Given the description of an element on the screen output the (x, y) to click on. 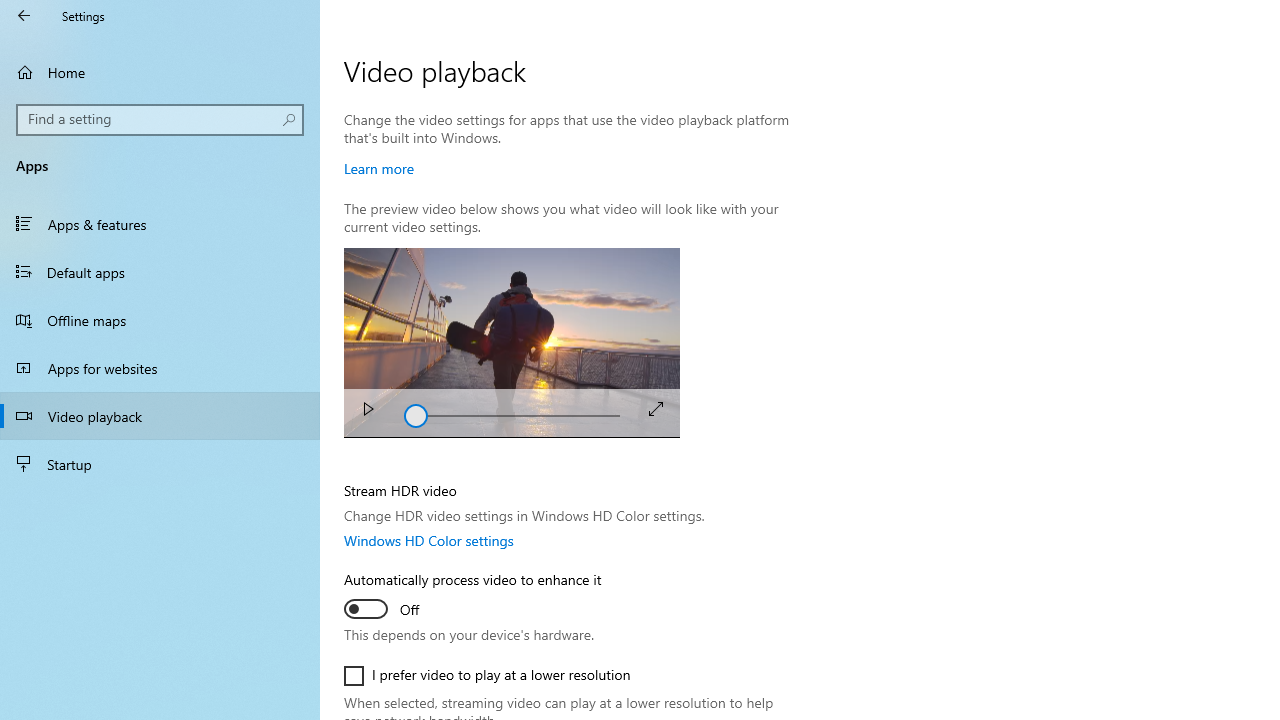
Learn more (379, 168)
Offline maps (160, 319)
Default apps (160, 271)
Apps for websites (160, 367)
Play (367, 412)
Windows HD Color settings (429, 540)
Video playback (160, 415)
I prefer video to play at a lower resolution (487, 675)
Startup (160, 463)
Search box, Find a setting (160, 119)
Apps & features (160, 223)
Seek (511, 412)
Automatically process video to enhance it (472, 597)
